Given the description of an element on the screen output the (x, y) to click on. 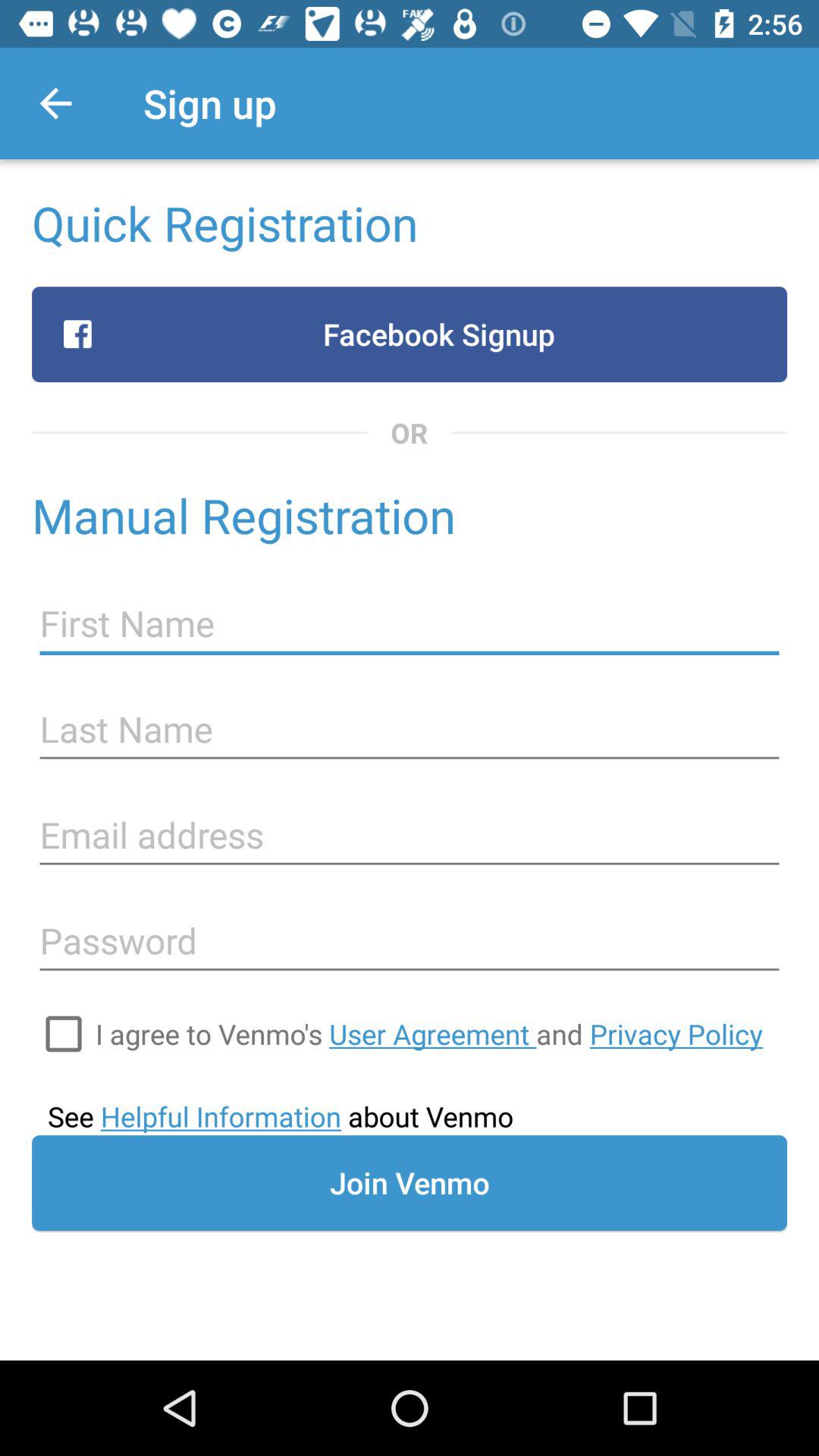
click to enter password (409, 941)
